Given the description of an element on the screen output the (x, y) to click on. 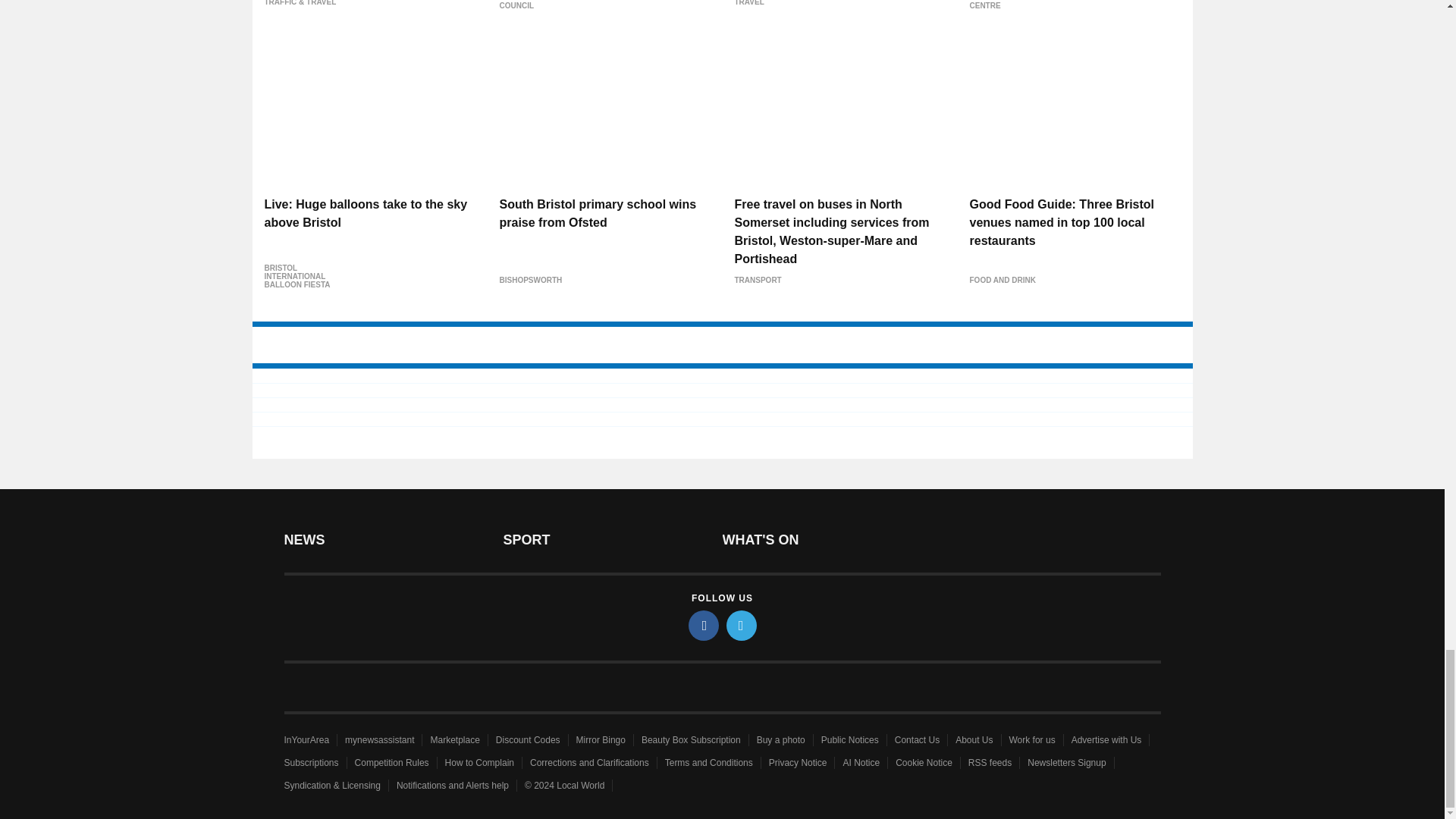
twitter (741, 625)
facebook (703, 625)
